Given the description of an element on the screen output the (x, y) to click on. 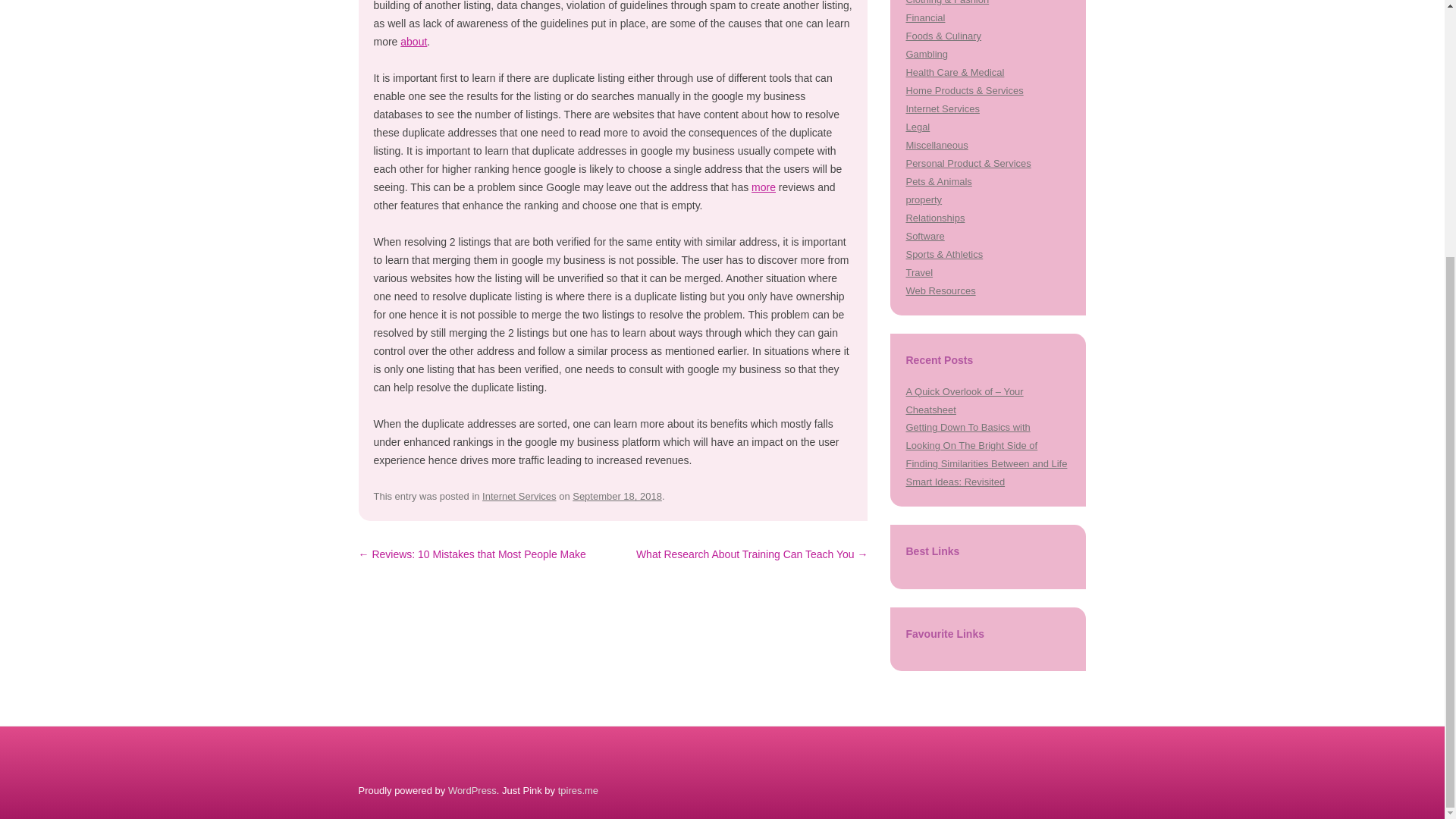
about (413, 41)
Semantic Personal Publishing Platform (472, 790)
Financial (924, 17)
Finding Similarities Between and Life (986, 463)
Legal (917, 126)
property (923, 199)
Looking On The Bright Side of (970, 445)
7:43 pm (617, 496)
tpires.me (577, 790)
Miscellaneous (936, 144)
